Given the description of an element on the screen output the (x, y) to click on. 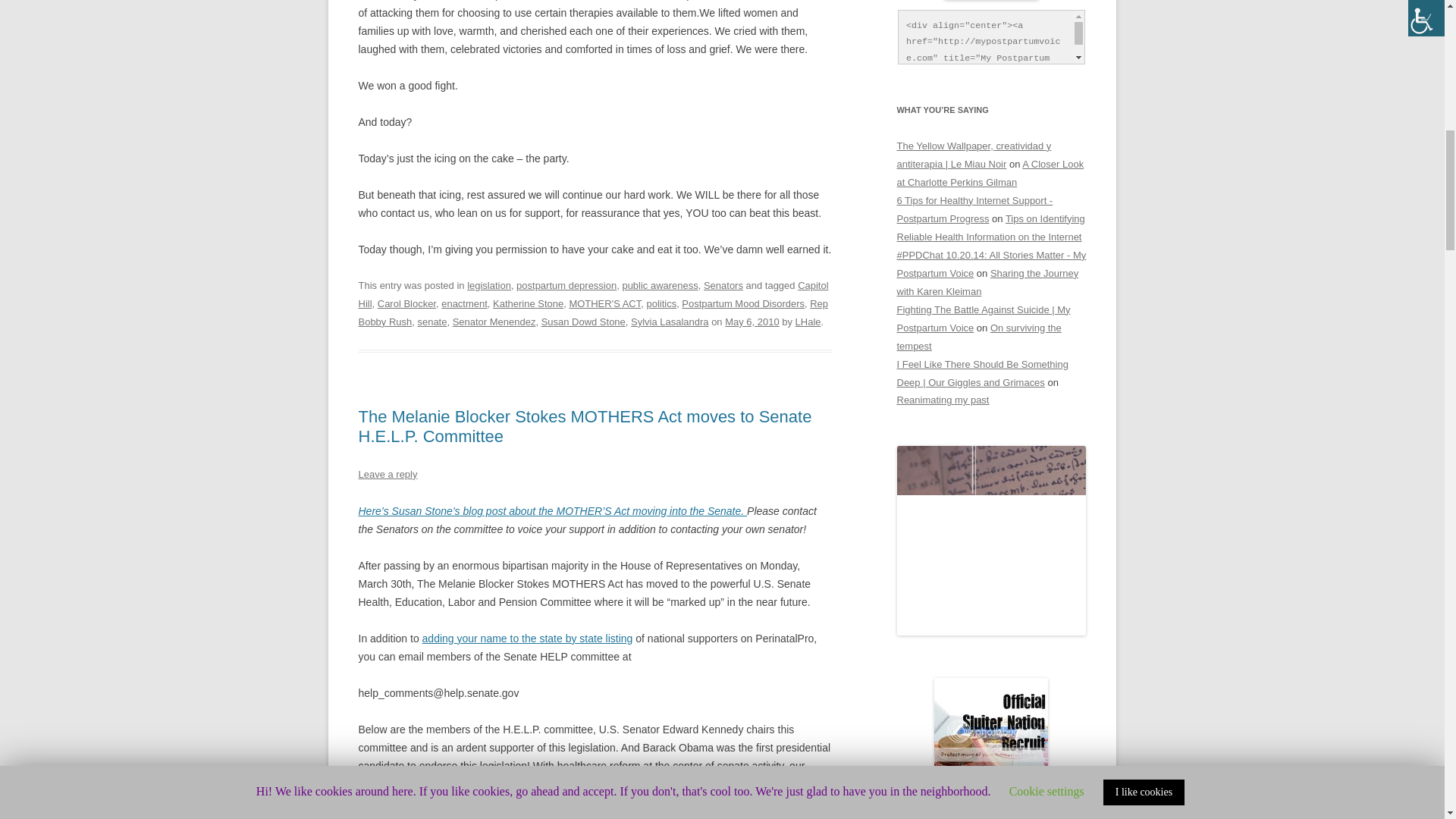
Postpartum Mood Disorders (743, 303)
postpartum depression (565, 285)
View all posts by LHale (807, 321)
Senators (722, 285)
Perinatal Pro Blog (552, 510)
Katherine Stone (528, 303)
senate (431, 321)
public awareness (659, 285)
Sylvia Lasalandra (669, 321)
Capitol Hill (593, 294)
